Given the description of an element on the screen output the (x, y) to click on. 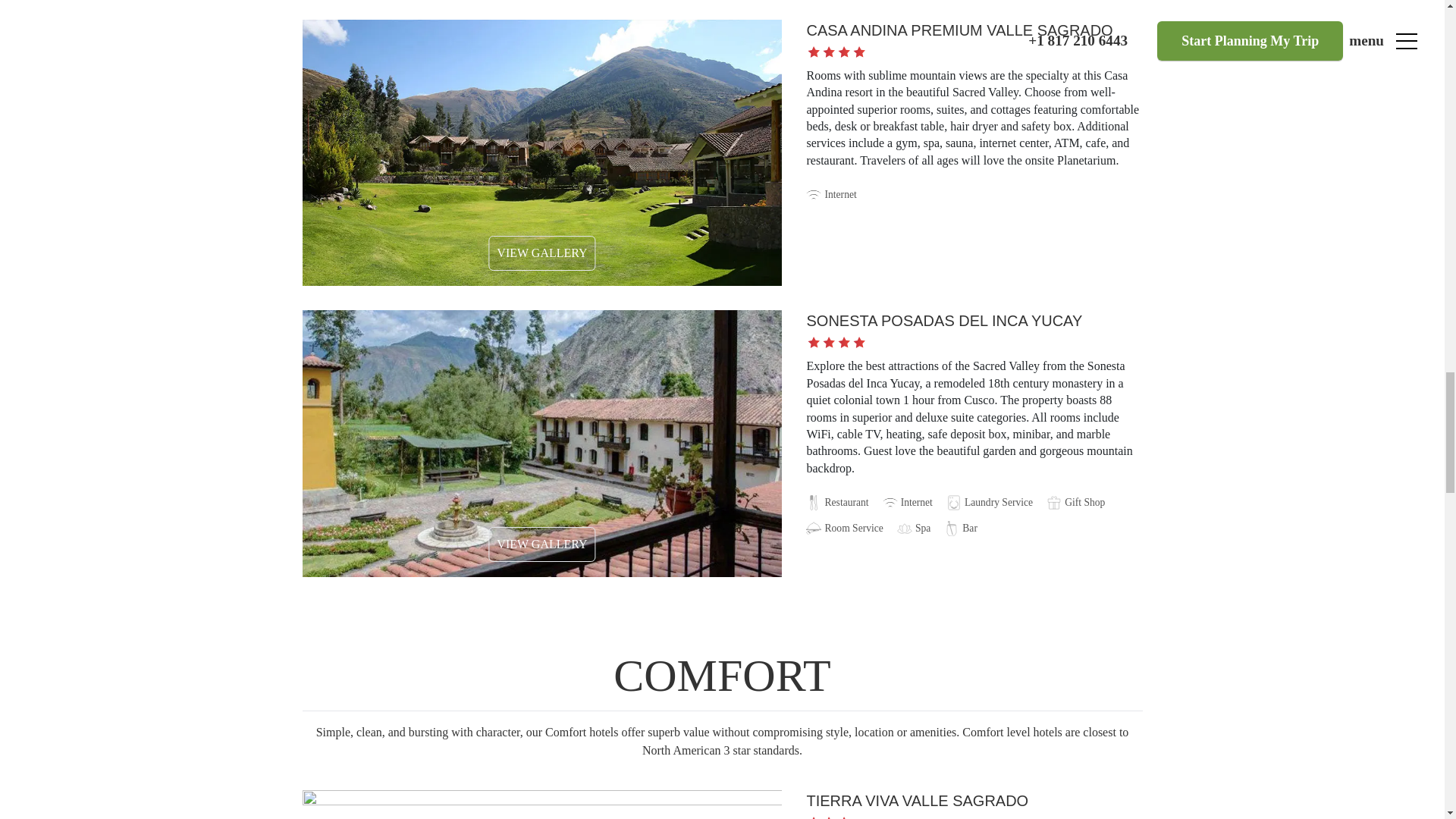
VIEW GALLERY (541, 253)
VIEW GALLERY (541, 544)
